Given the description of an element on the screen output the (x, y) to click on. 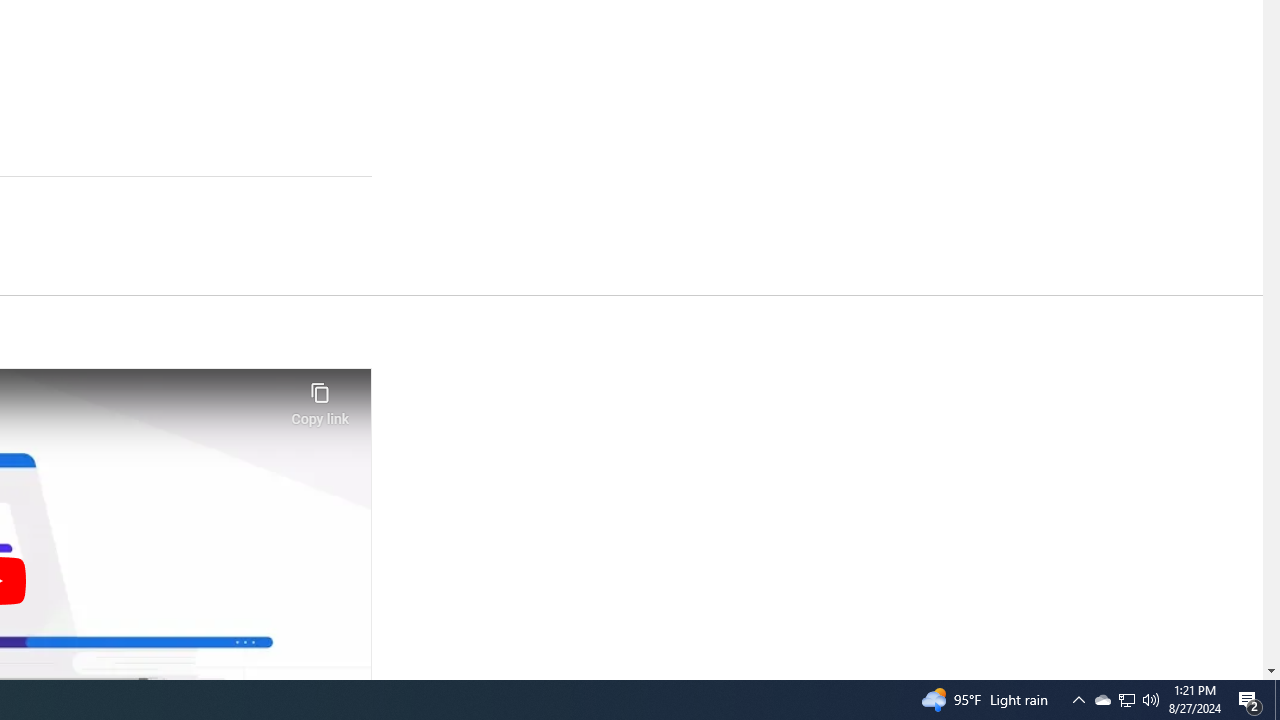
Copy link (319, 398)
